Given the description of an element on the screen output the (x, y) to click on. 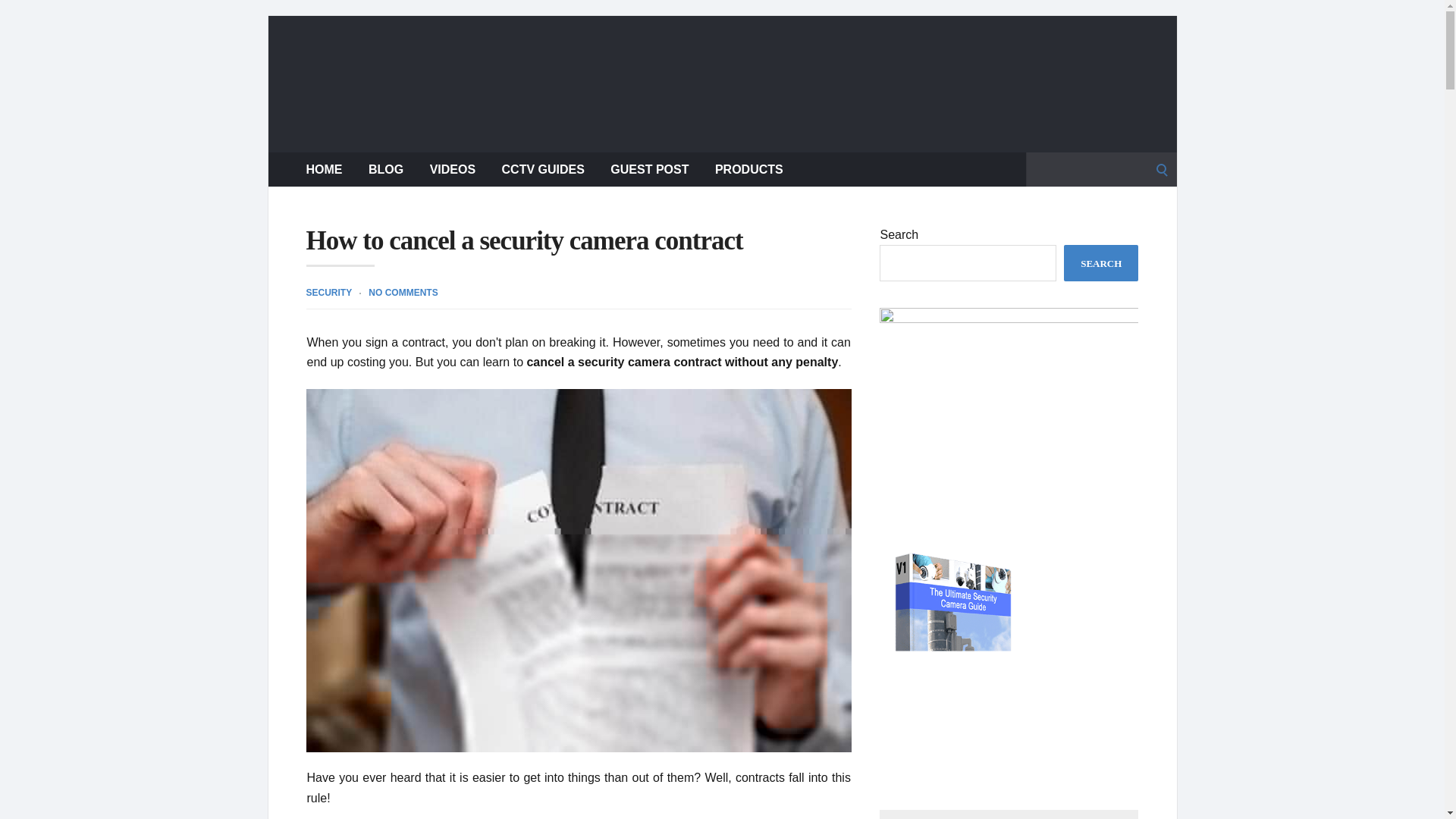
SECURITY (328, 292)
CCTV GUIDES (543, 169)
SEARCH (1101, 262)
HOME (323, 169)
PRODUCTS (748, 169)
Learn CCTV.com (721, 83)
GUEST POST (649, 169)
NO COMMENTS (403, 292)
BLOG (385, 169)
